Given the description of an element on the screen output the (x, y) to click on. 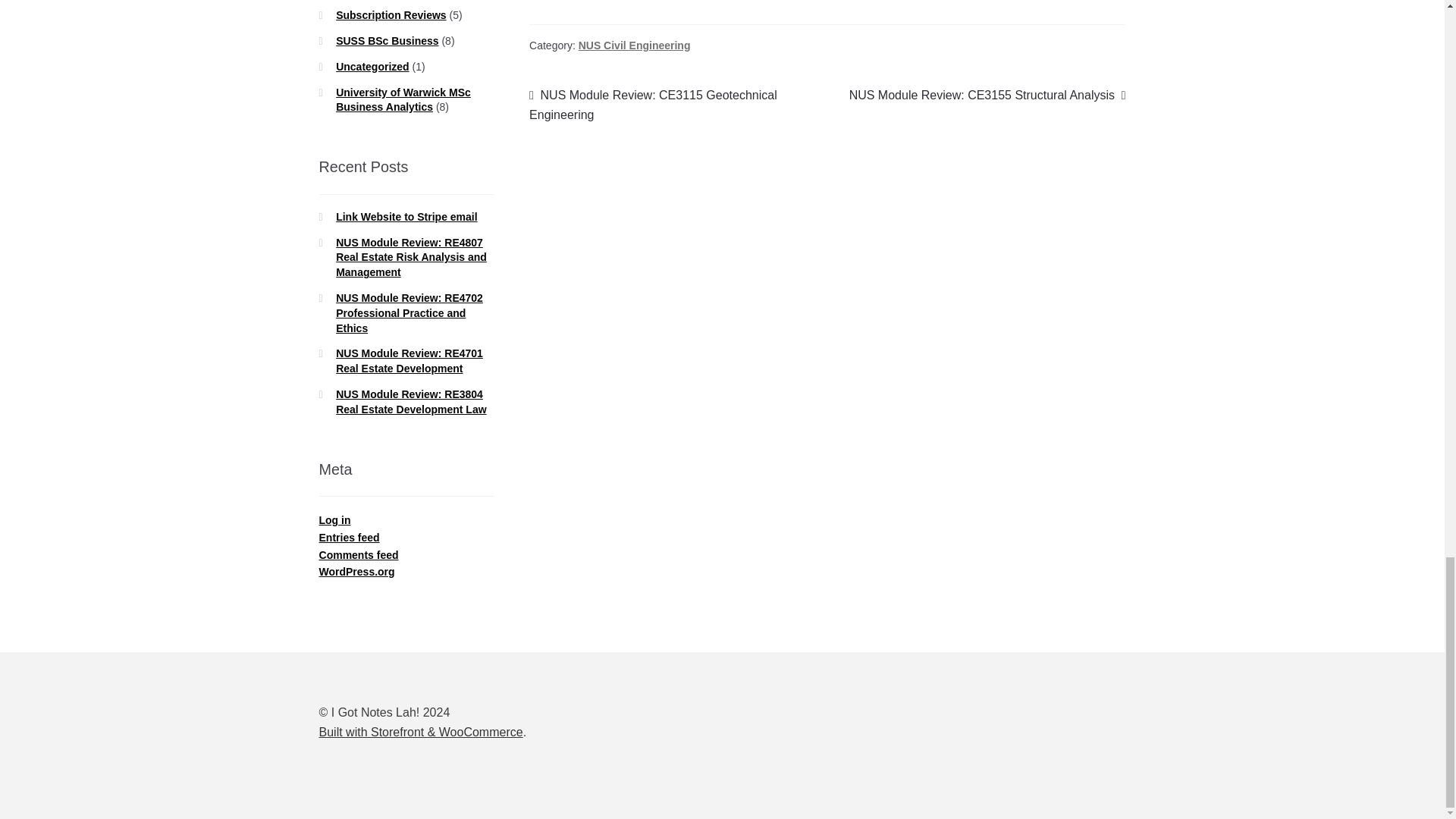
WooCommerce - The Best eCommerce Platform for WordPress (420, 731)
